Given the description of an element on the screen output the (x, y) to click on. 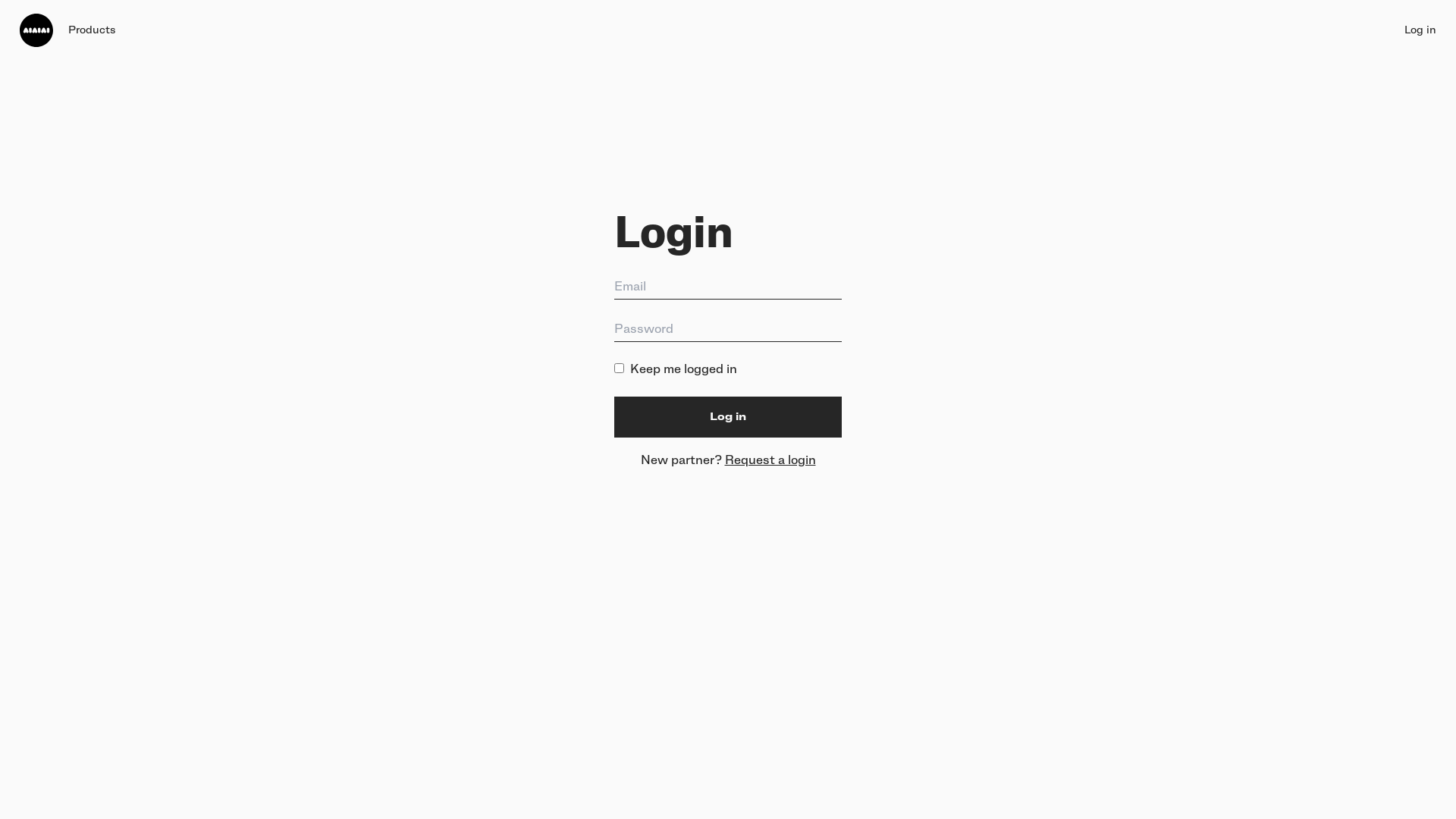
Products Element type: text (91, 30)
Request a login Element type: text (769, 460)
Log in Element type: text (727, 416)
Log in Element type: text (1420, 30)
